Given the description of an element on the screen output the (x, y) to click on. 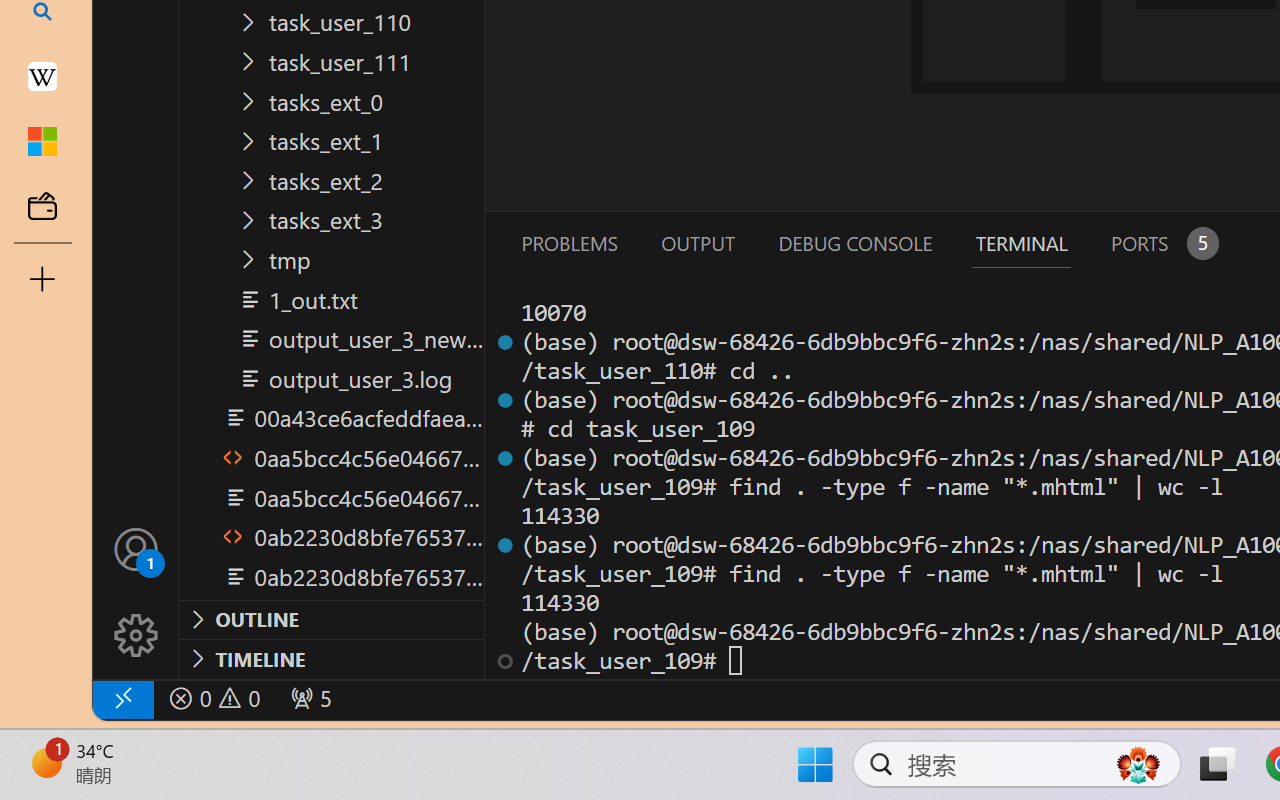
No Problems (212, 698)
remote (122, 698)
Problems (Ctrl+Shift+M) (567, 243)
Accounts - Sign in requested (135, 548)
Debug Console (Ctrl+Shift+Y) (854, 243)
